Given the description of an element on the screen output the (x, y) to click on. 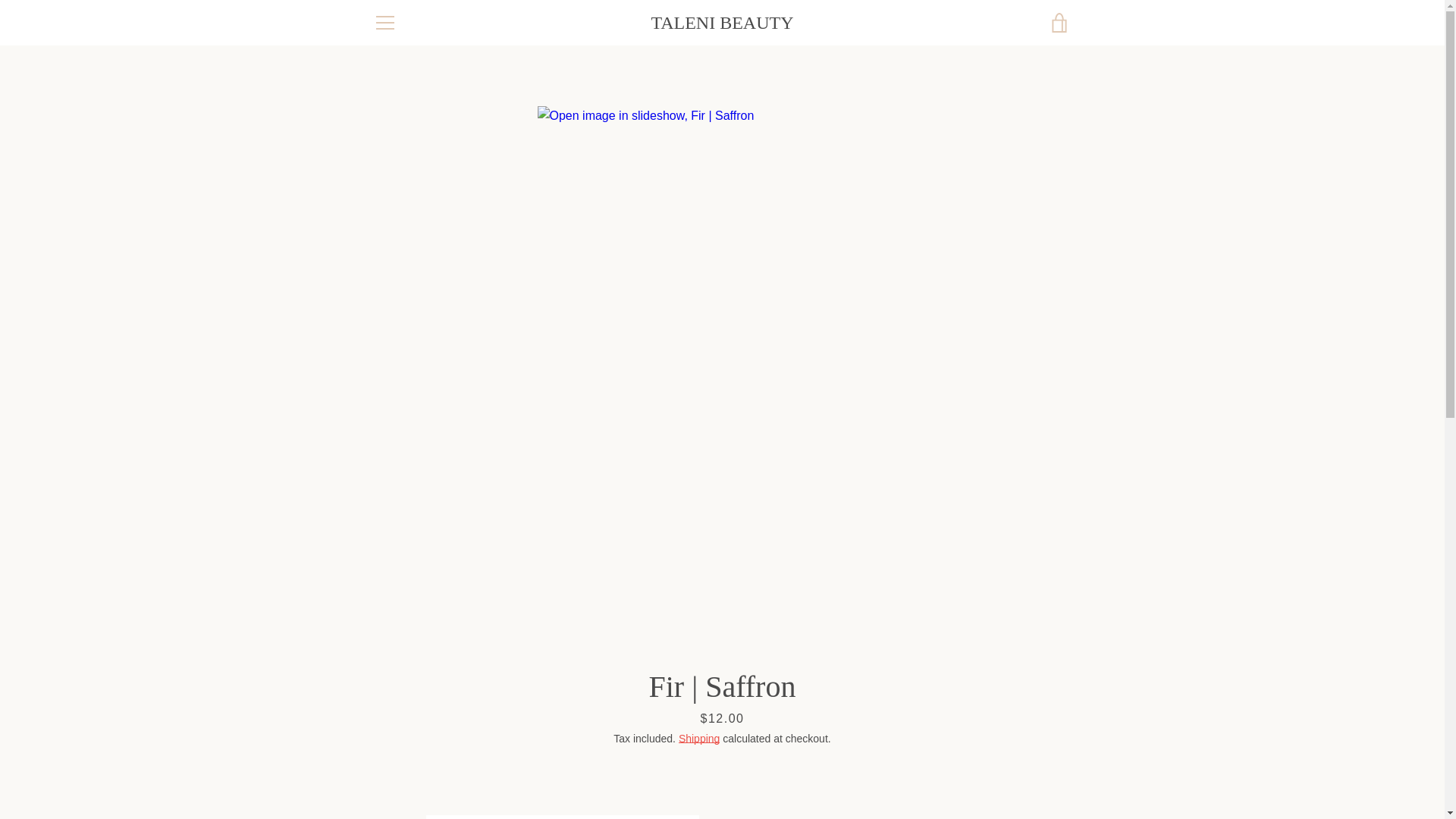
Discover (988, 755)
Mastercard (918, 778)
Maestro (1057, 755)
TALENI BEAUTY (721, 23)
PayPal (953, 778)
Google Pay (1022, 755)
Union Pay (1022, 778)
Shop Pay (988, 778)
American Express (883, 755)
